Given the description of an element on the screen output the (x, y) to click on. 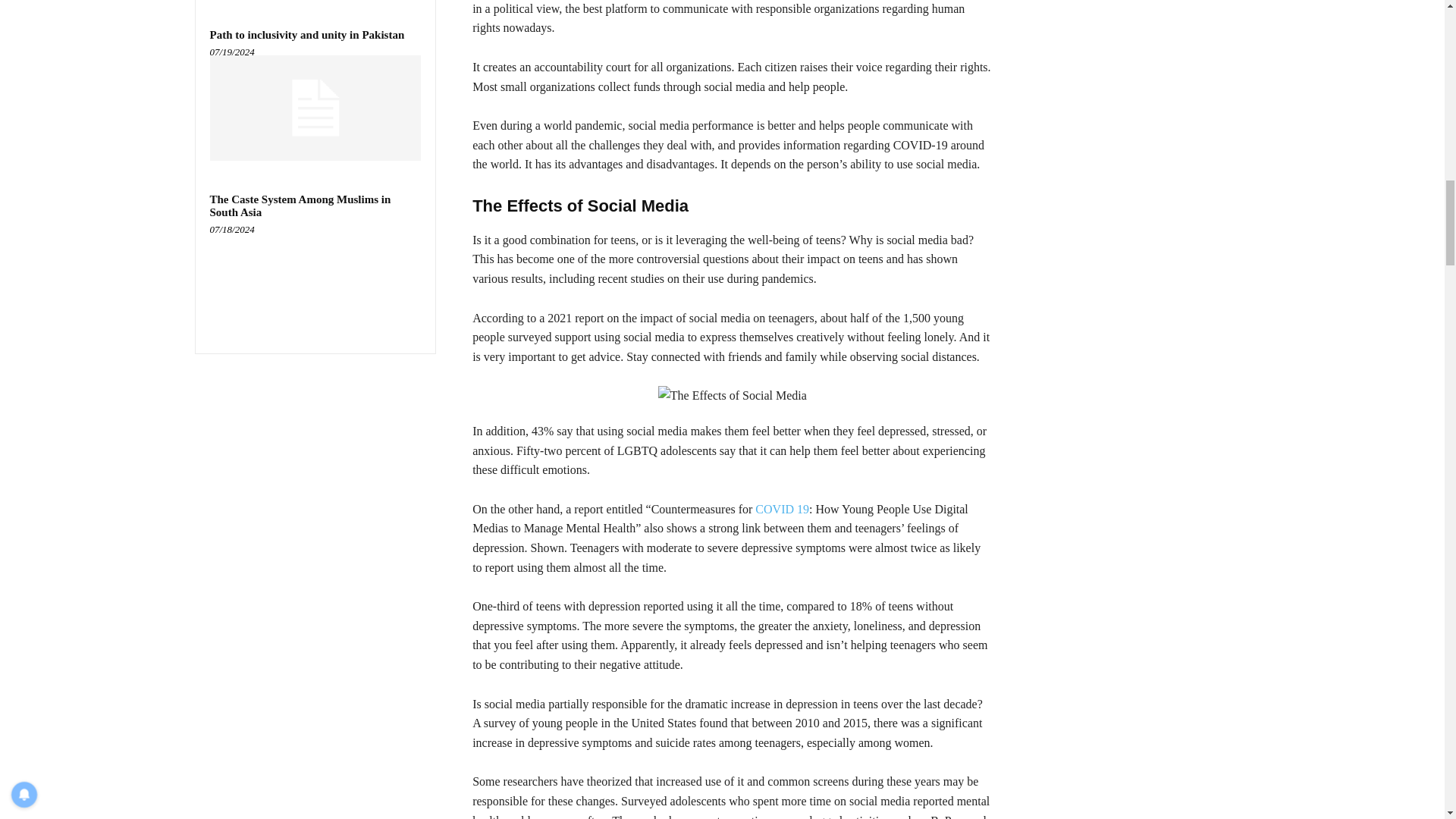
The Caste System Among Muslims in South Asia (314, 285)
The Caste System Among Muslims in South Asia (299, 205)
